Given the description of an element on the screen output the (x, y) to click on. 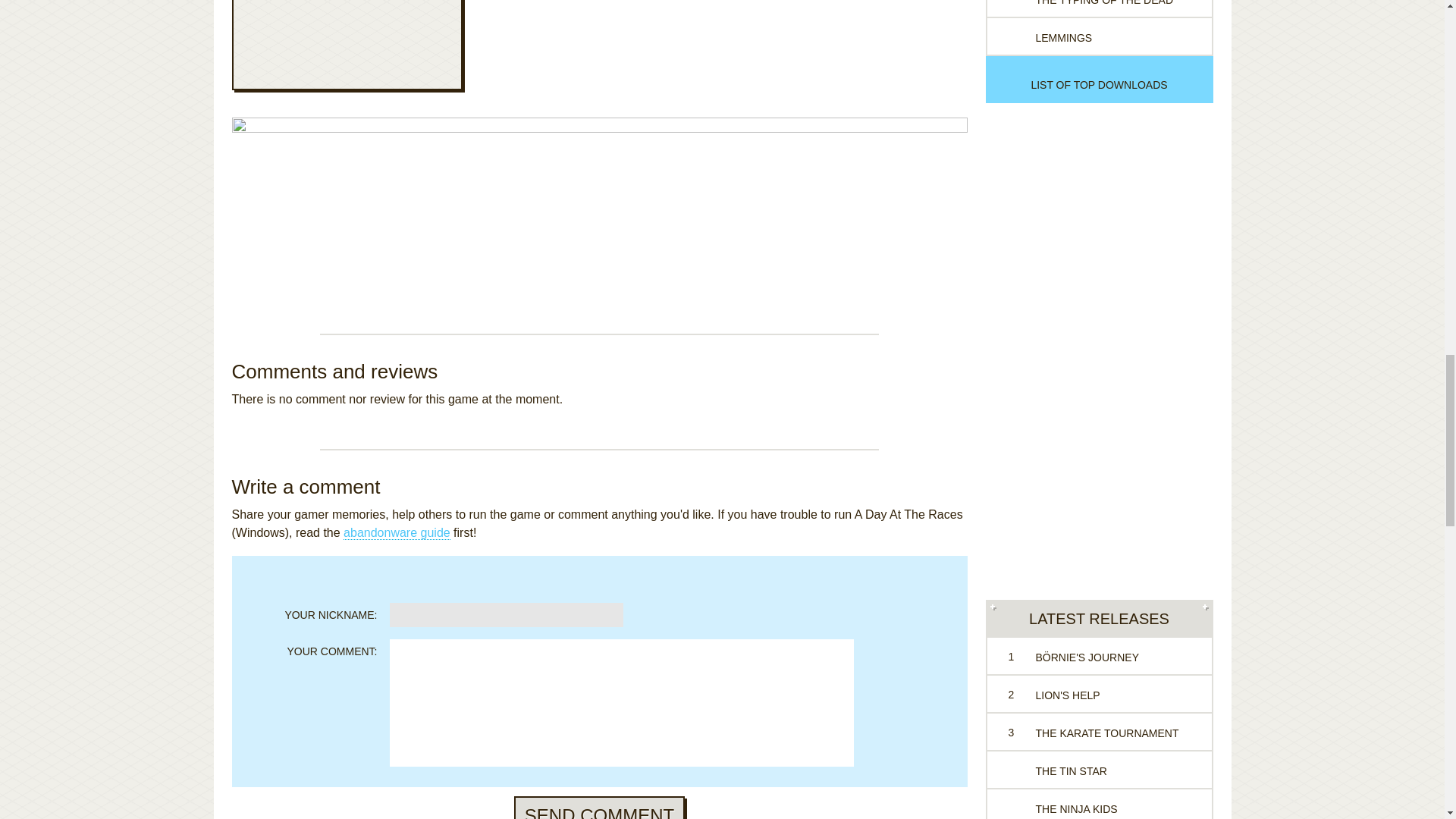
abandonware guide (396, 532)
See the Top 40 Games (1098, 84)
SEND COMMENT (598, 807)
